Given the description of an element on the screen output the (x, y) to click on. 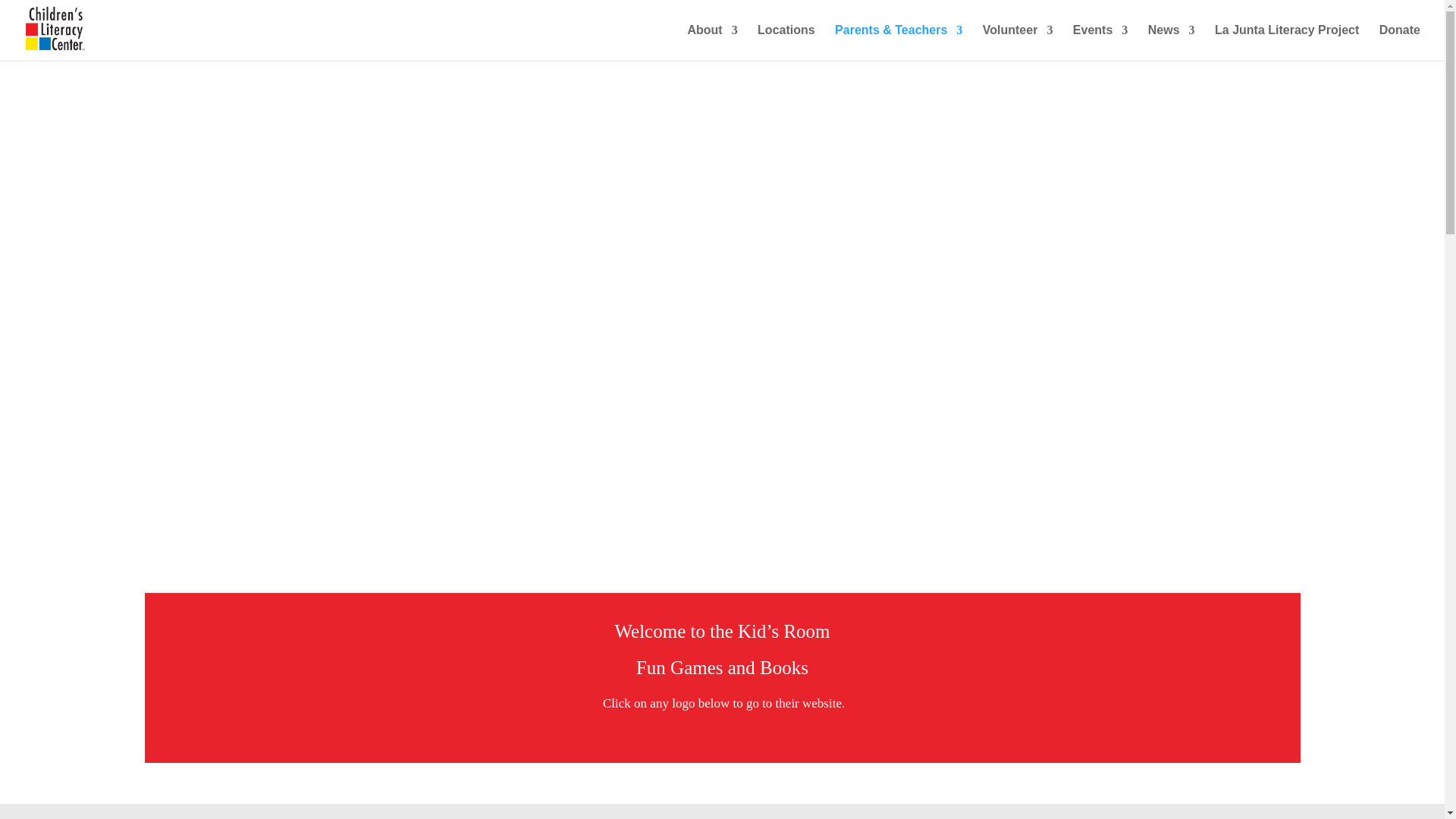
Events (1099, 42)
La Junta Literacy Project (1286, 42)
News (1171, 42)
Volunteer (1017, 42)
Donate (1399, 42)
Locations (786, 42)
About (711, 42)
